Given the description of an element on the screen output the (x, y) to click on. 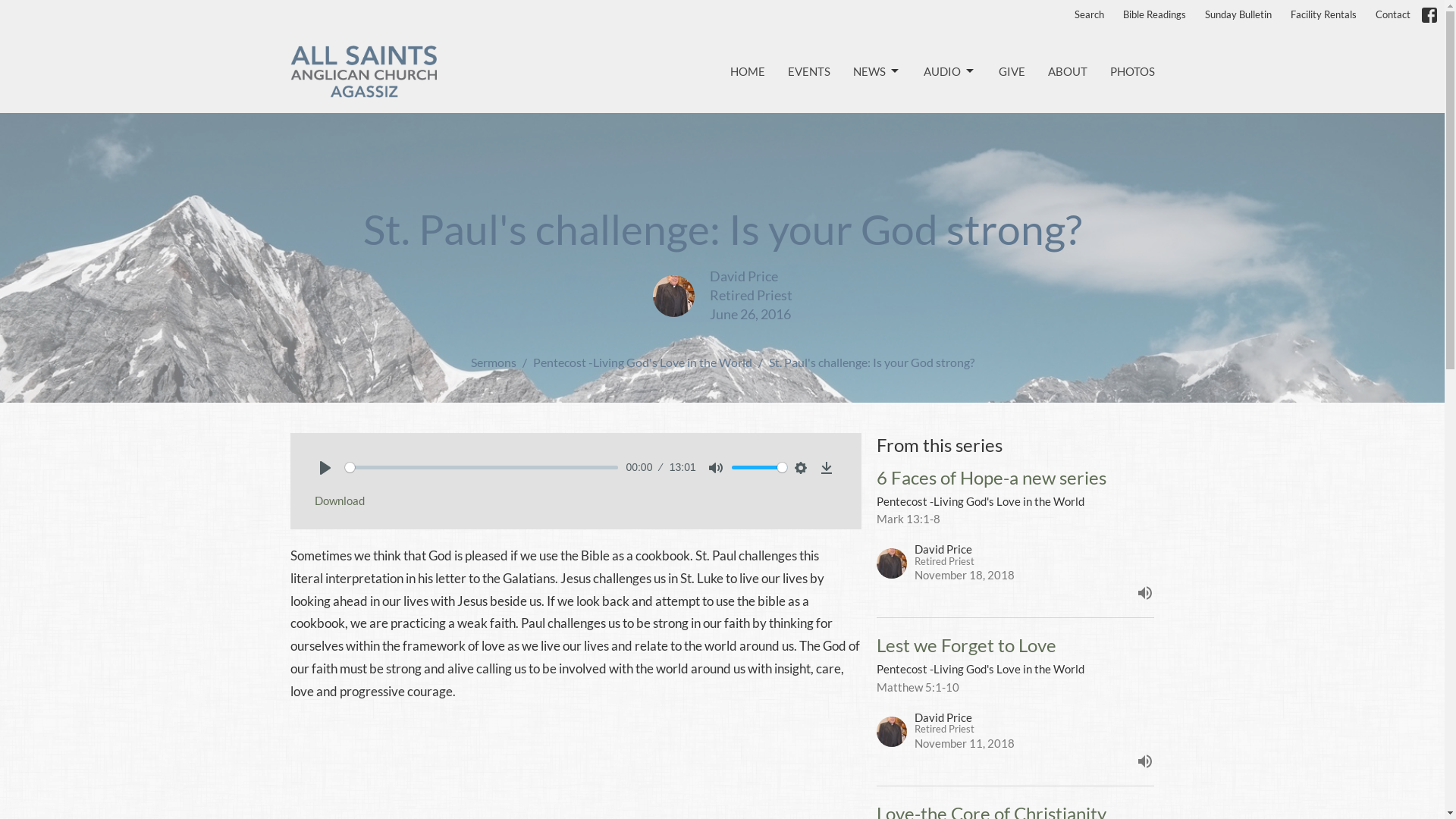
AUDIO Element type: text (949, 71)
Settings Element type: text (800, 467)
Download Element type: text (826, 467)
Play Element type: text (324, 467)
Download Element type: text (338, 500)
PHOTOS Element type: text (1132, 71)
NEWS Element type: text (876, 71)
Pentecost -Living God's Love in the World Element type: text (641, 361)
Search Element type: text (1088, 14)
Sermons Element type: text (492, 361)
GIVE Element type: text (1010, 71)
Facility Rentals Element type: text (1323, 14)
Mute Element type: text (715, 467)
Contact Element type: text (1393, 14)
Sunday Bulletin Element type: text (1238, 14)
HOME Element type: text (746, 71)
ABOUT Element type: text (1067, 71)
EVENTS Element type: text (808, 71)
Bible Readings Element type: text (1154, 14)
